Given the description of an element on the screen output the (x, y) to click on. 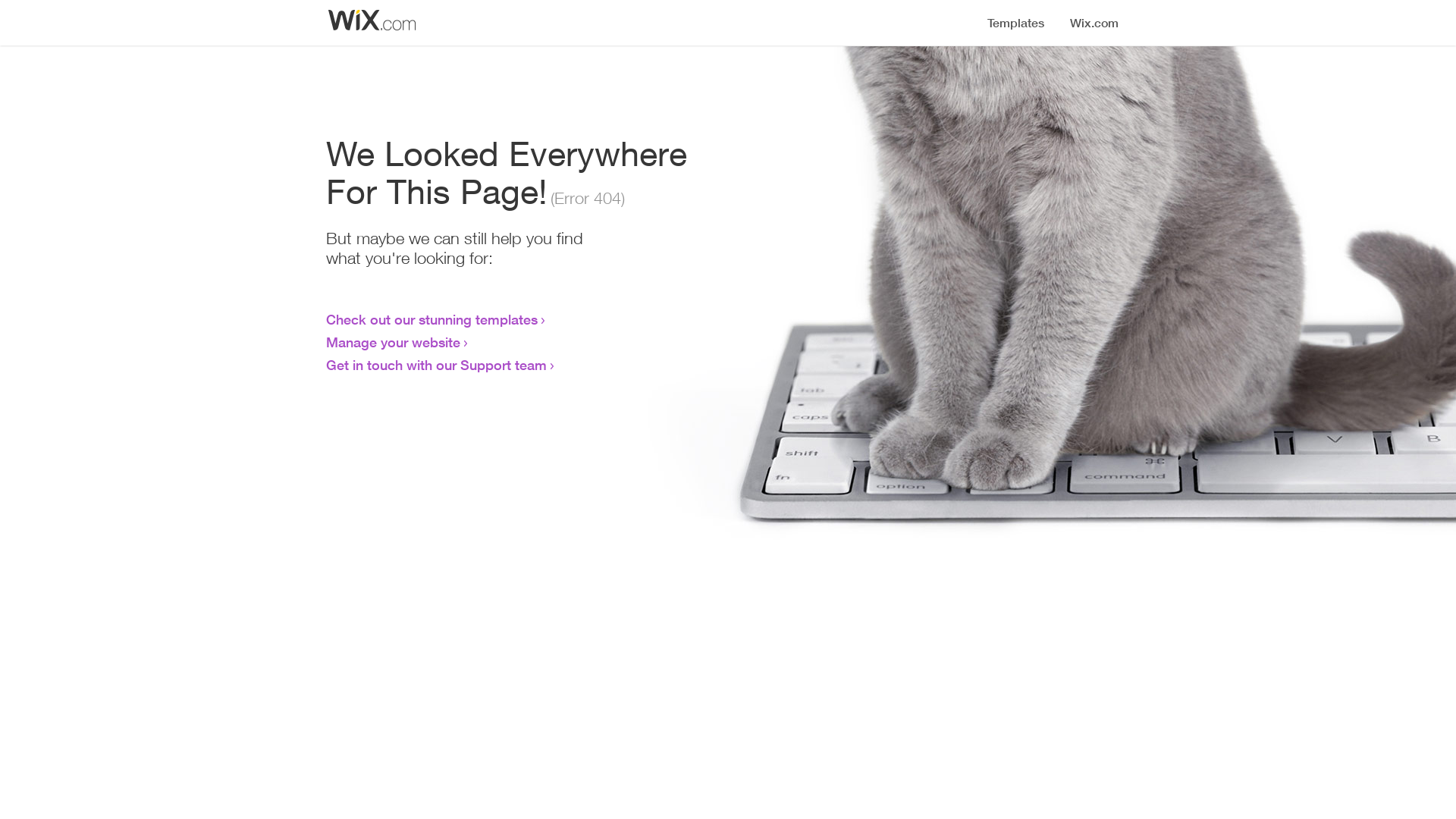
Get in touch with our Support team Element type: text (436, 364)
Check out our stunning templates Element type: text (431, 318)
Manage your website Element type: text (393, 341)
